Given the description of an element on the screen output the (x, y) to click on. 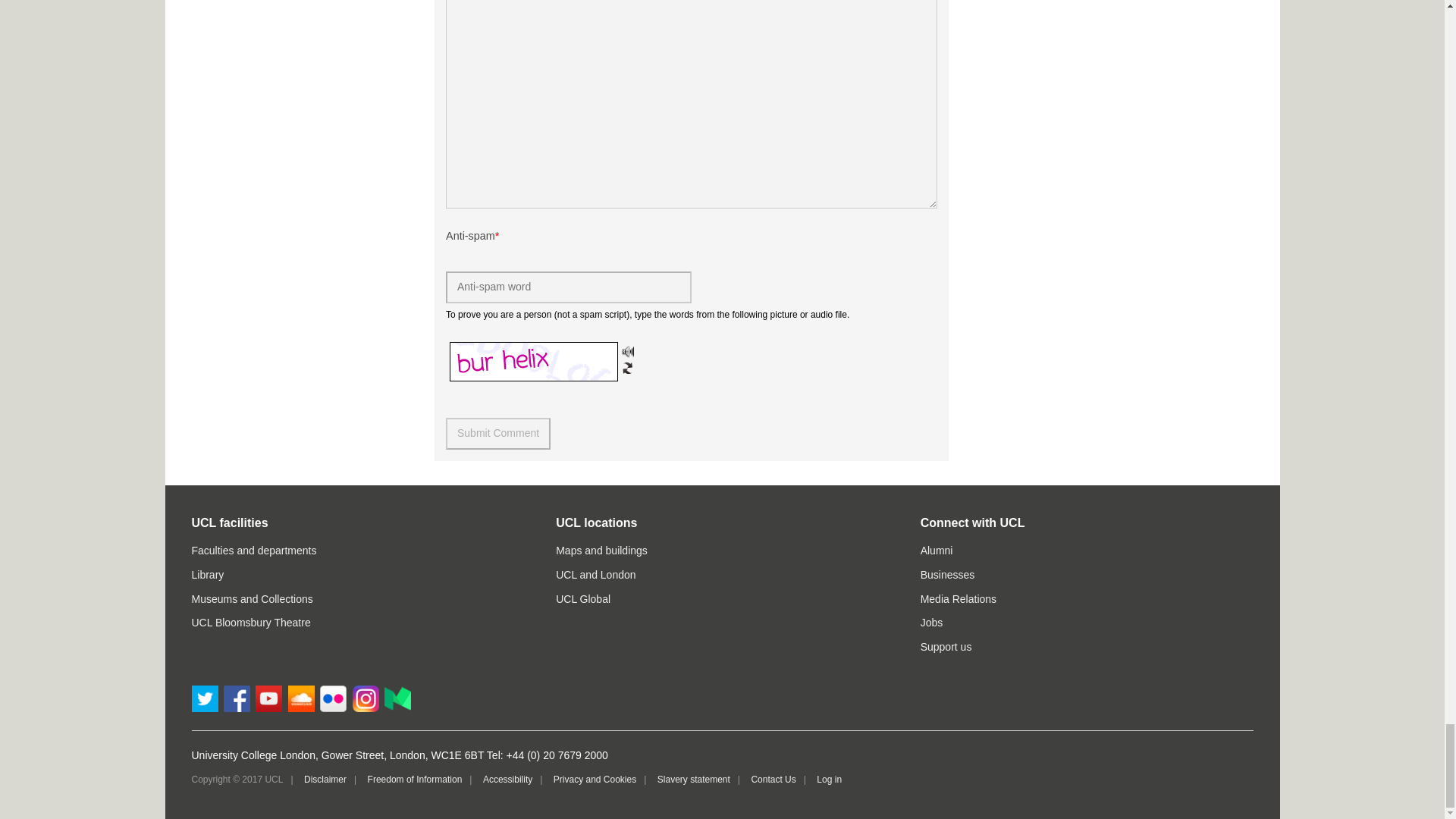
Submit Comment (497, 433)
